Given the description of an element on the screen output the (x, y) to click on. 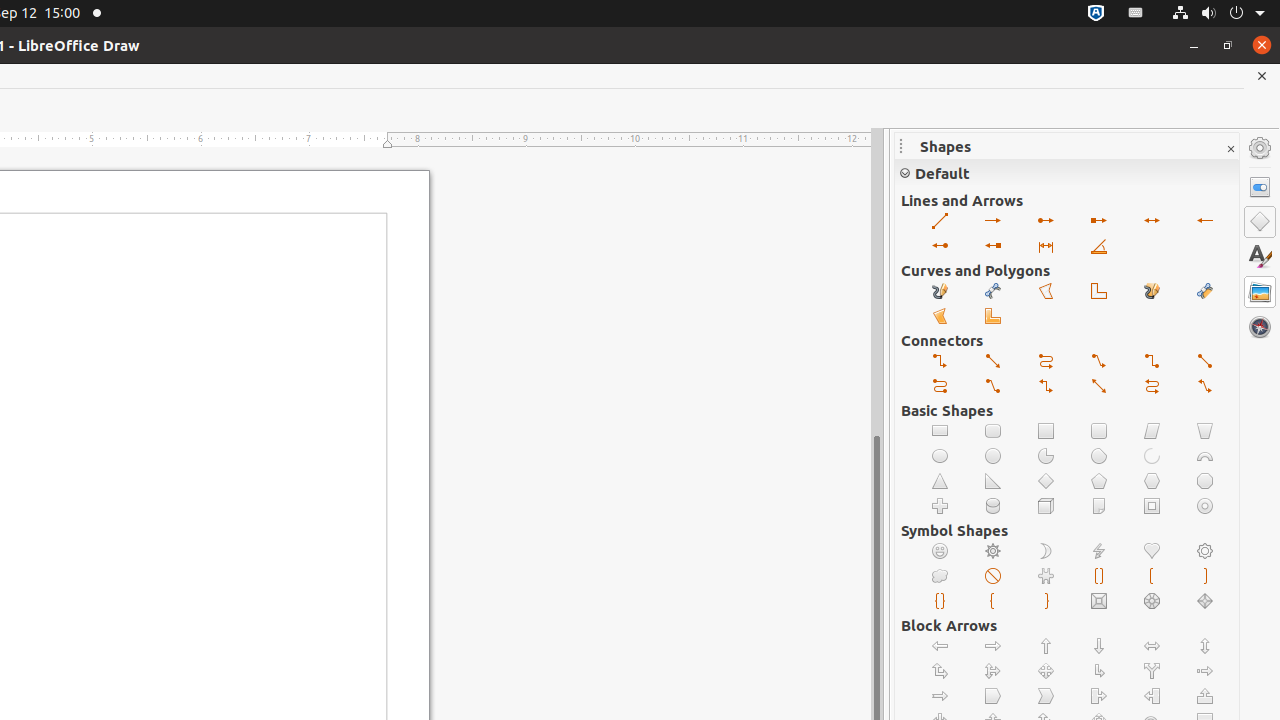
Square, Rounded Element type: list-item (1099, 431)
Left Brace Element type: list-item (993, 601)
Polygon (45°), Filled Element type: list-item (993, 316)
Right Arrow Callout Element type: list-item (1099, 696)
Left Bracket Element type: list-item (1152, 576)
